Given the description of an element on the screen output the (x, y) to click on. 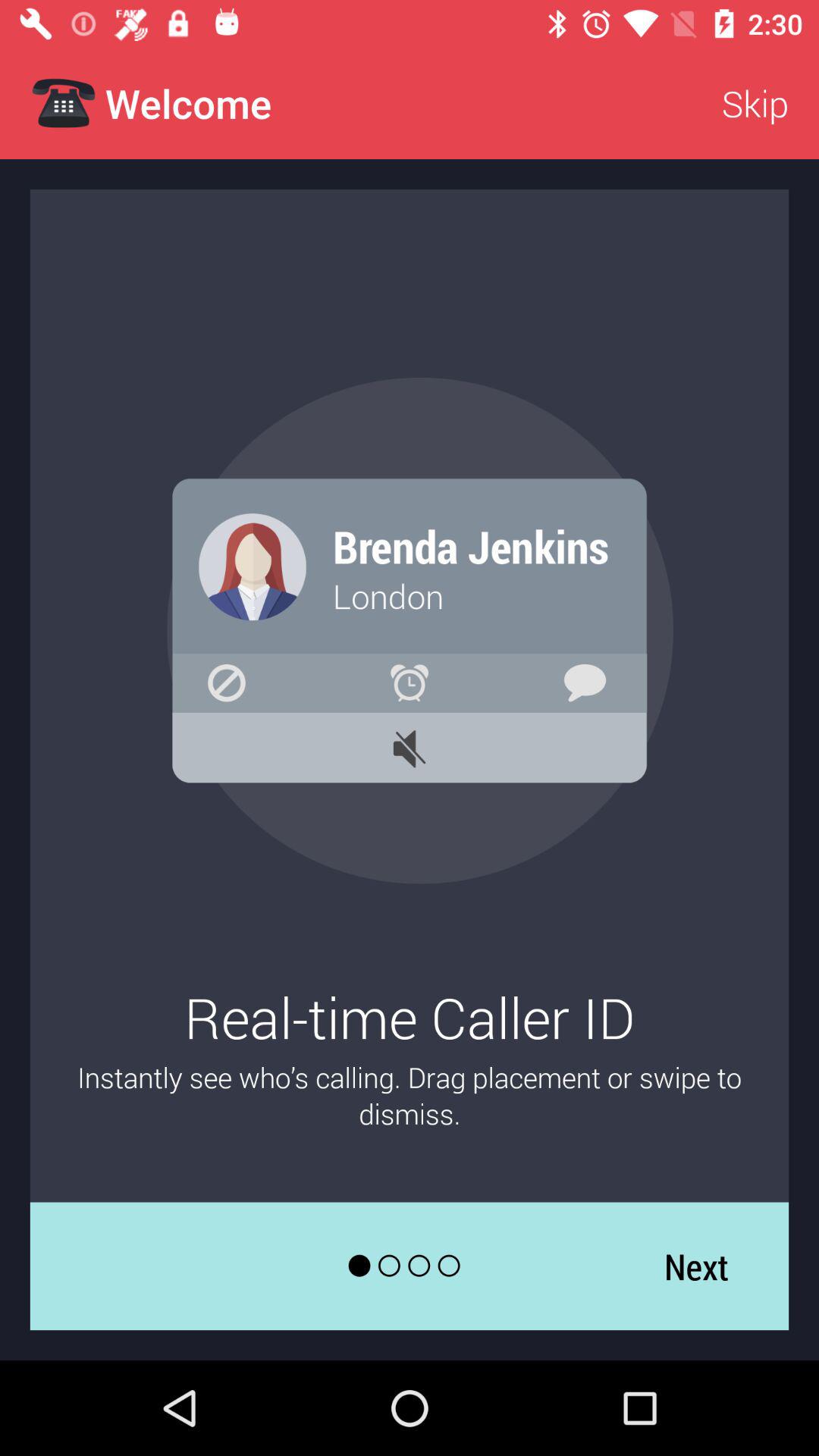
turn off the next (696, 1266)
